Given the description of an element on the screen output the (x, y) to click on. 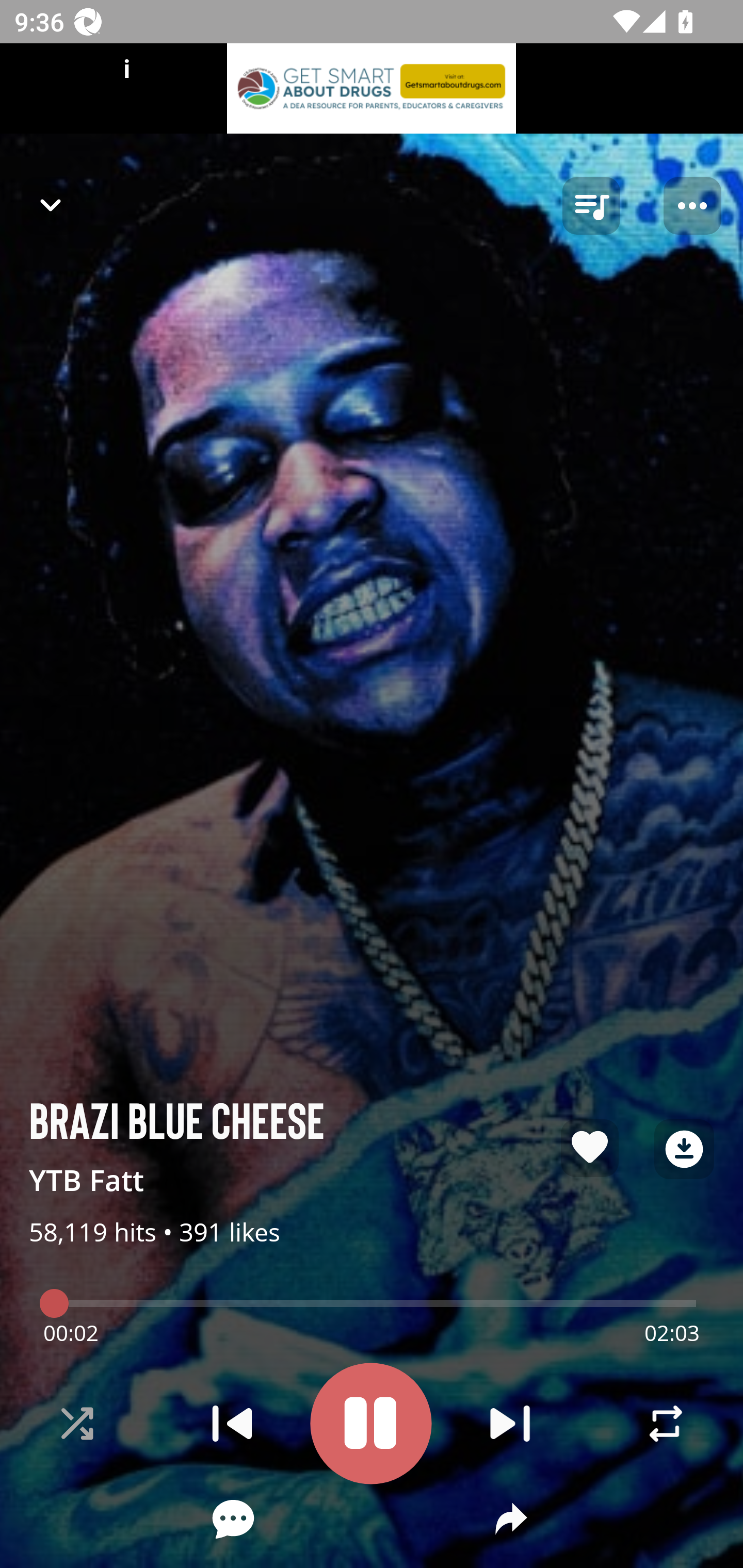
Navigate up (50, 205)
queue (590, 206)
Player options (692, 206)
